Given the description of an element on the screen output the (x, y) to click on. 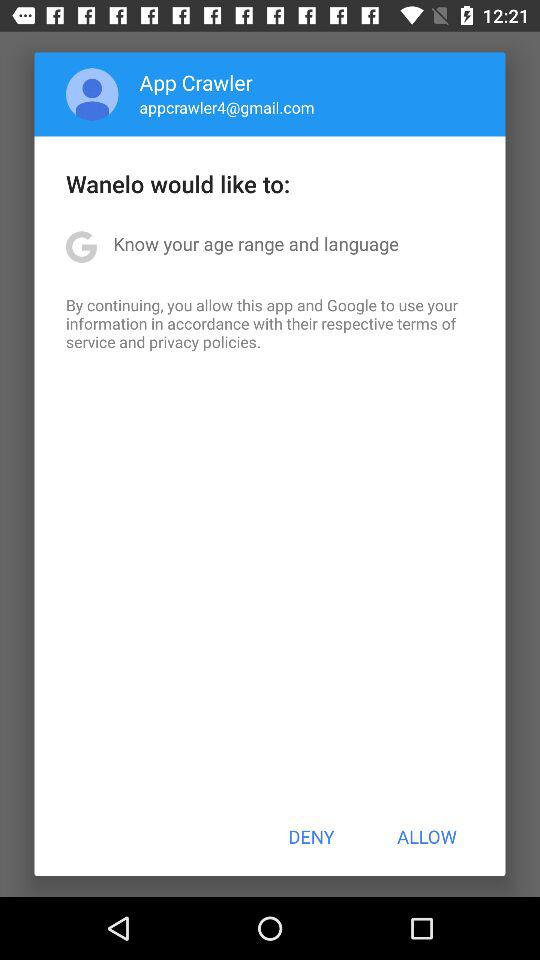
tap app crawler (195, 82)
